Given the description of an element on the screen output the (x, y) to click on. 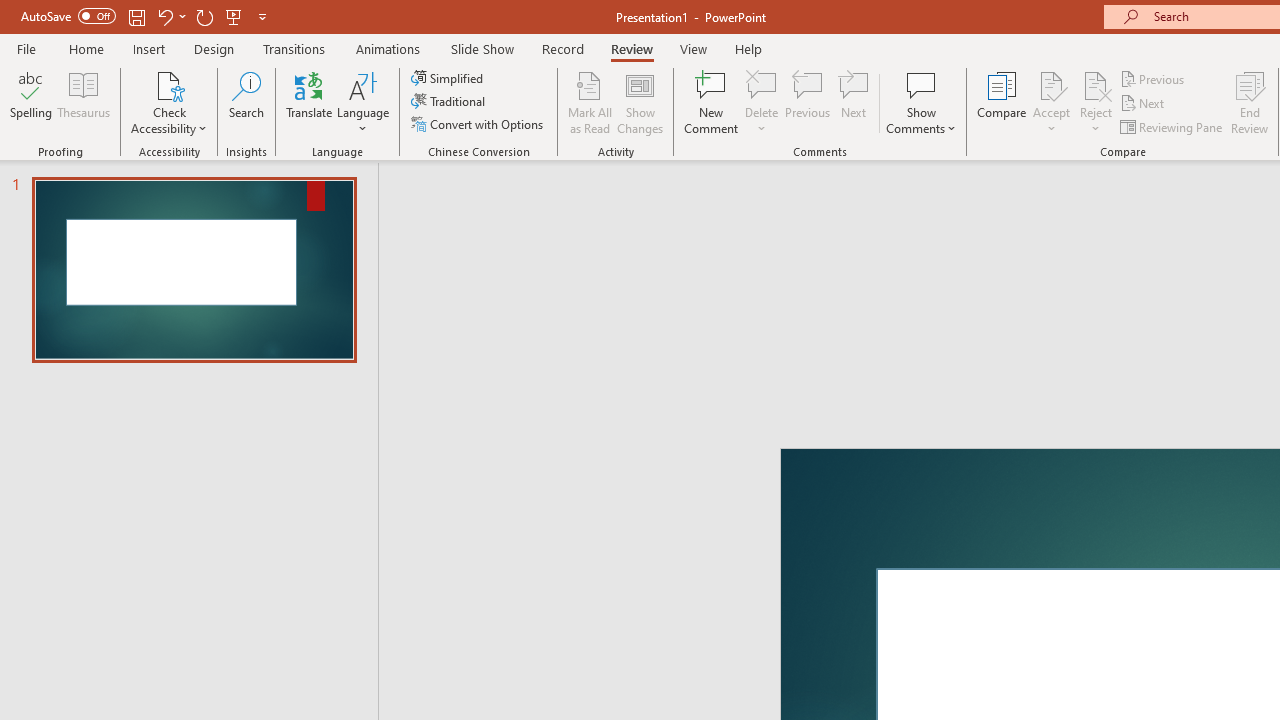
Mark All as Read (589, 102)
Reject Change (1096, 84)
Simplified (449, 78)
Reject (1096, 102)
Convert with Options... (479, 124)
